Given the description of an element on the screen output the (x, y) to click on. 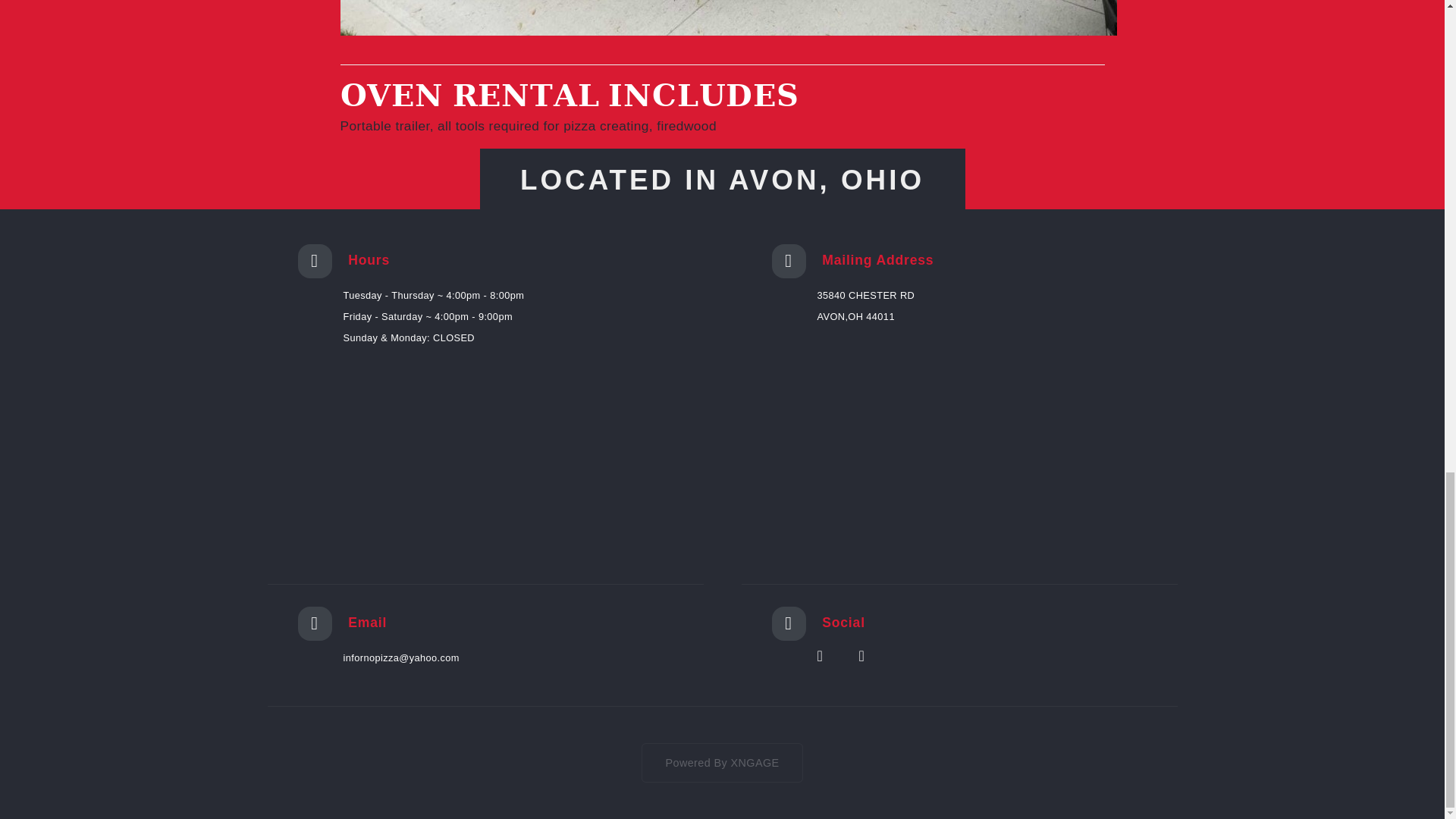
XNGAGE (754, 762)
